Given the description of an element on the screen output the (x, y) to click on. 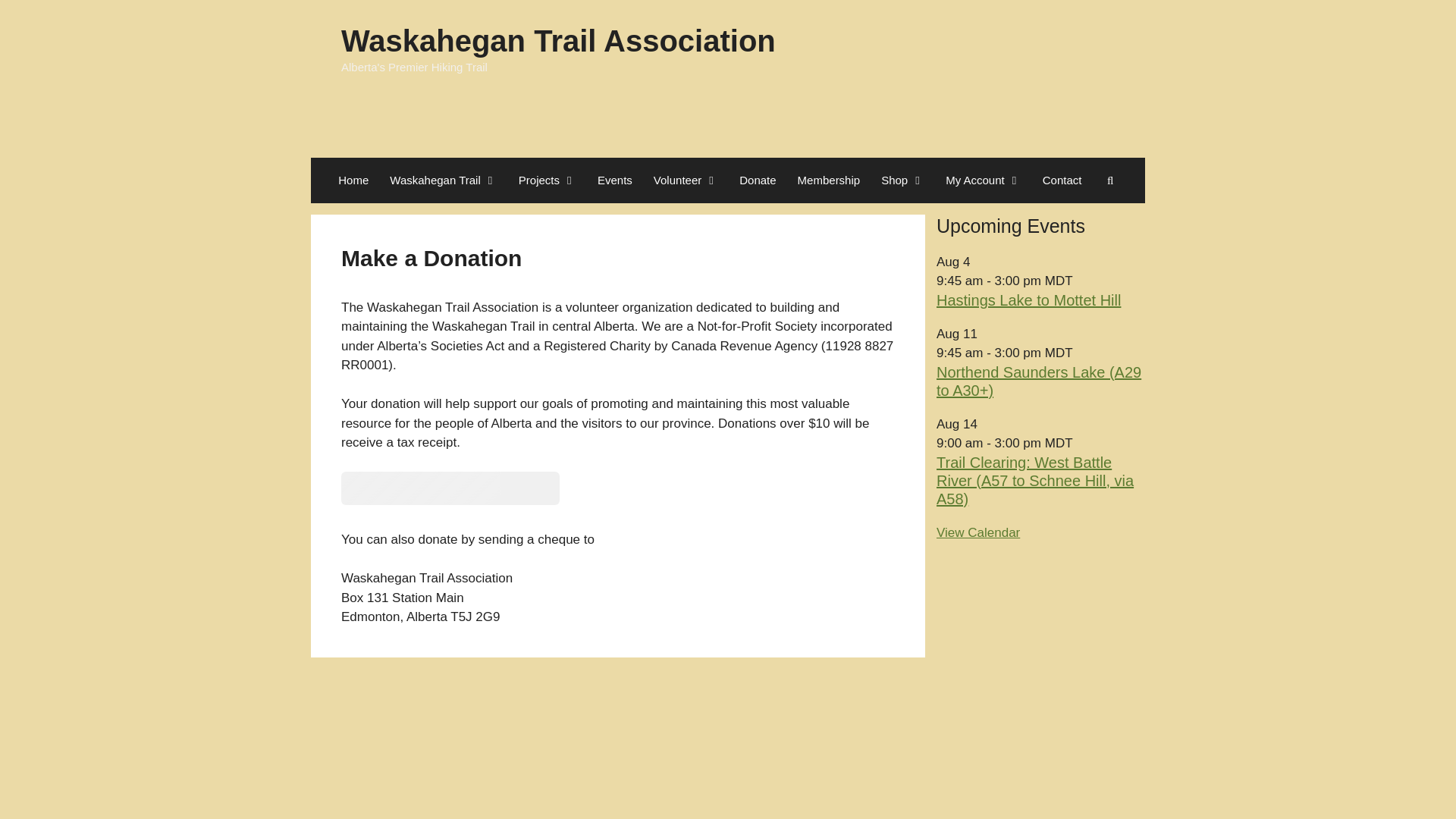
Home (352, 180)
Waskahegan Trail Association (558, 40)
Waskahegan Trail (443, 180)
Hastings Lake to Mottet Hill (1028, 299)
View more events. (978, 531)
